Given the description of an element on the screen output the (x, y) to click on. 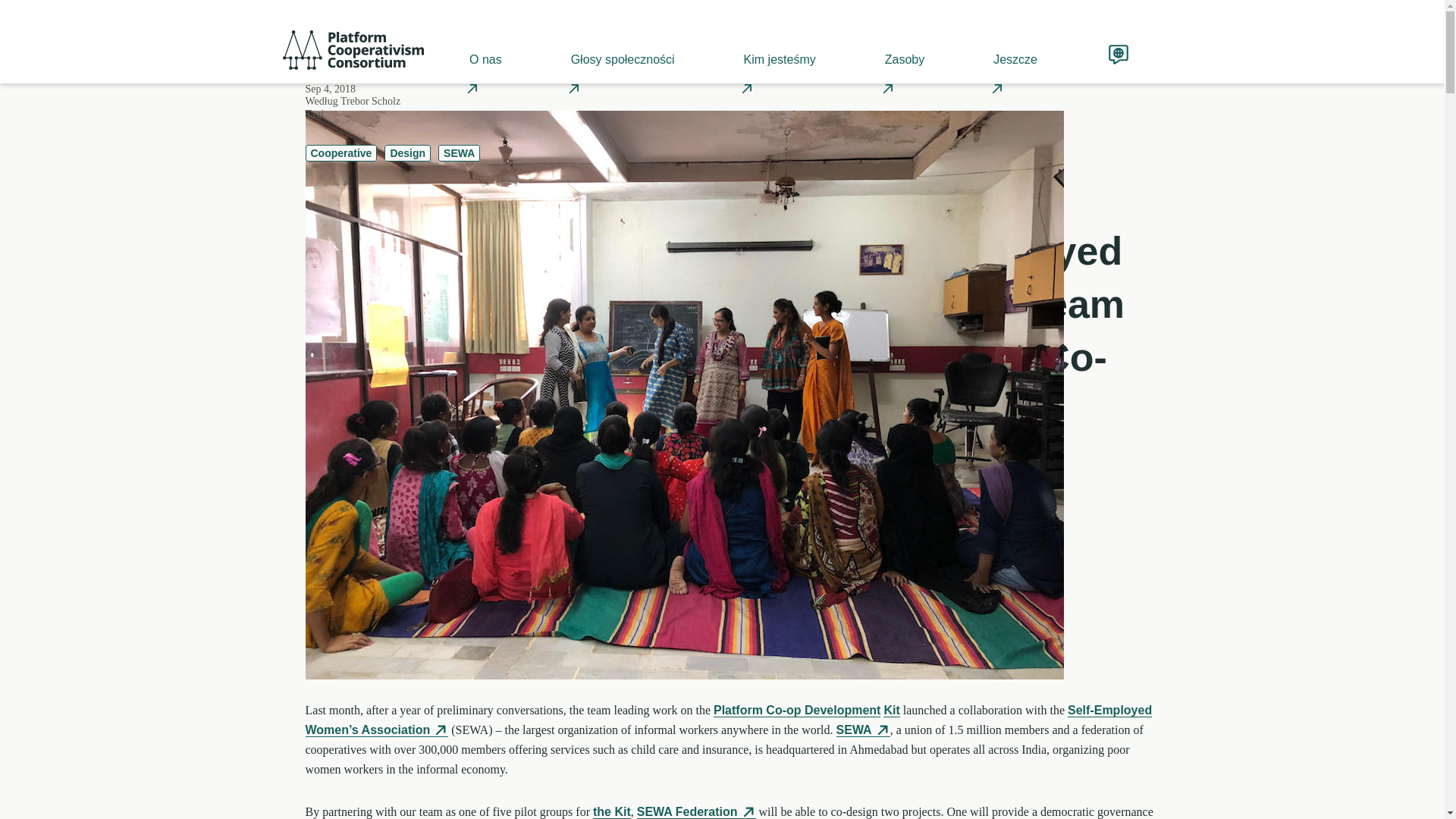
O nas (484, 59)
Jeszcze (1014, 59)
Zasoby (903, 59)
